Given the description of an element on the screen output the (x, y) to click on. 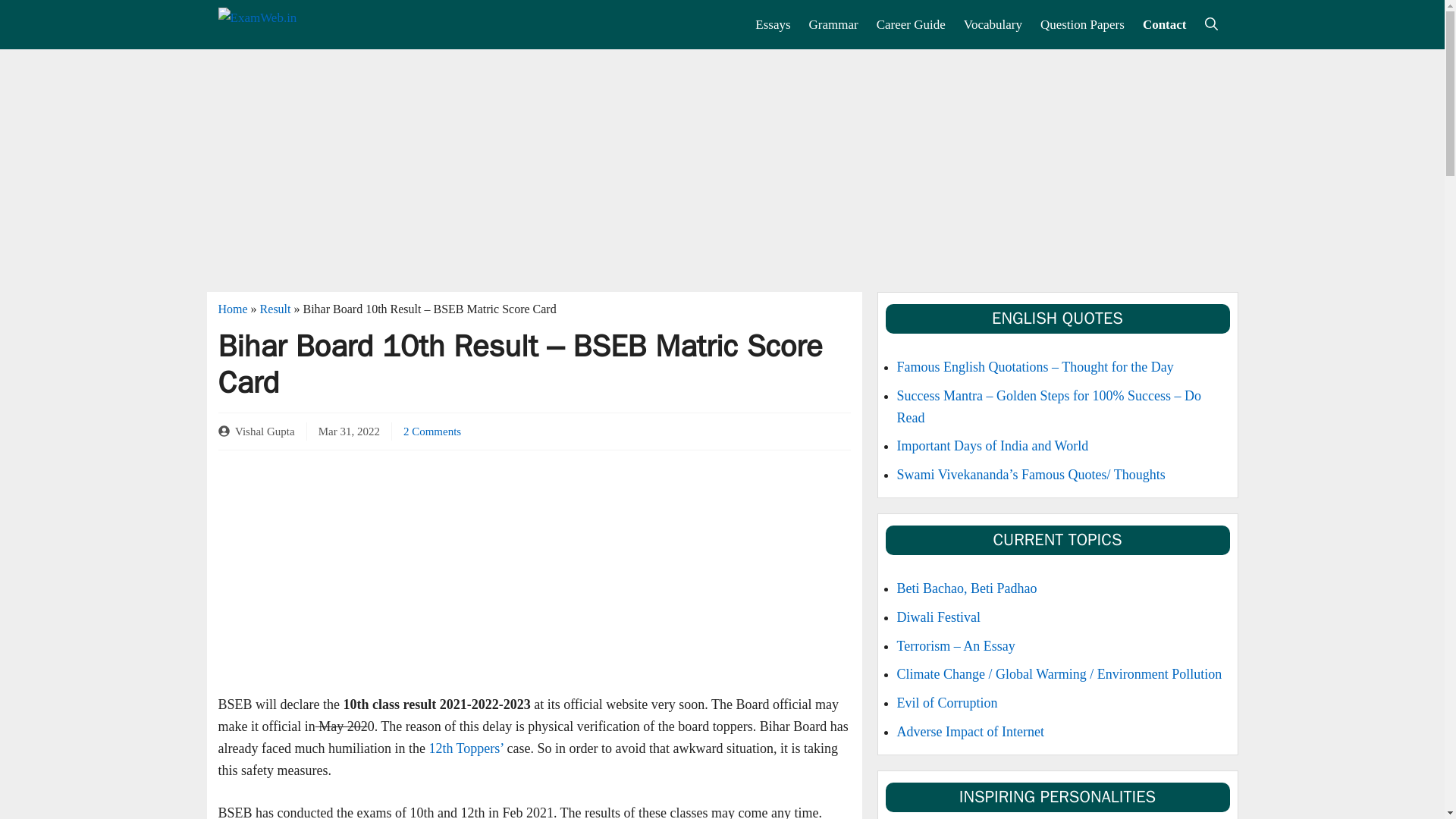
Beti Bachao, Beti Padhao (966, 588)
Result (275, 308)
Career Guide (911, 24)
Diwali Festival (937, 616)
ExamWeb.in (291, 24)
Contact (1164, 24)
Grammar (833, 24)
Important Days of India and World (991, 445)
Evil of Corruption (946, 702)
Home (232, 308)
